Given the description of an element on the screen output the (x, y) to click on. 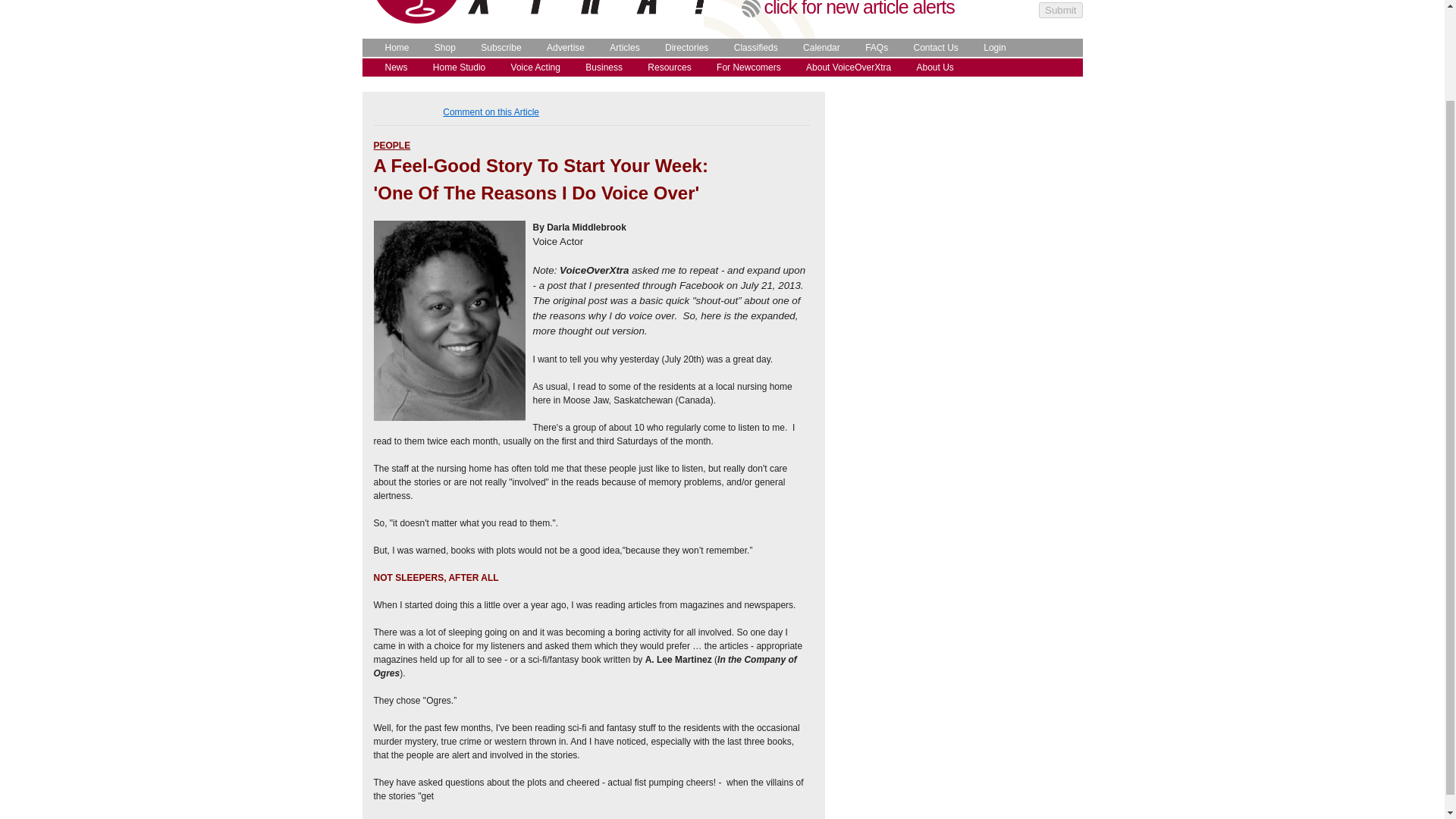
Home (393, 47)
For Newcomers (744, 67)
About Us (930, 67)
Voice Acting (531, 67)
Submit (1060, 10)
News (392, 67)
click for new article alerts (859, 8)
Advertise (561, 47)
About VoiceOverXtra (844, 67)
Subscribe (497, 47)
